Given the description of an element on the screen output the (x, y) to click on. 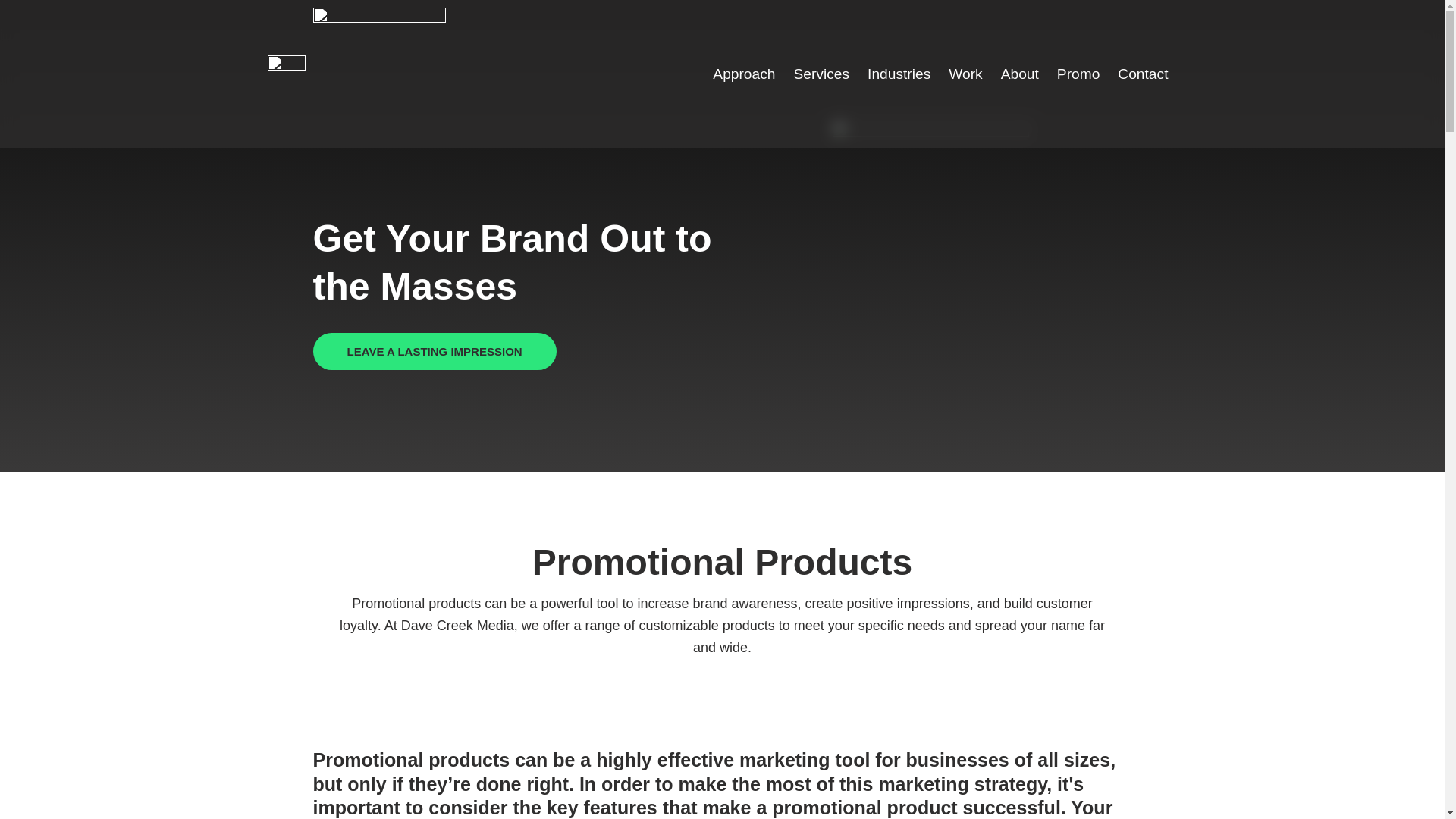
Work (965, 73)
Services (821, 73)
Approach (743, 73)
Industries (899, 73)
LEAVE A LASTING IMPRESSION (434, 351)
About (1019, 73)
Promo (1078, 73)
Contact (1142, 73)
